Given the description of an element on the screen output the (x, y) to click on. 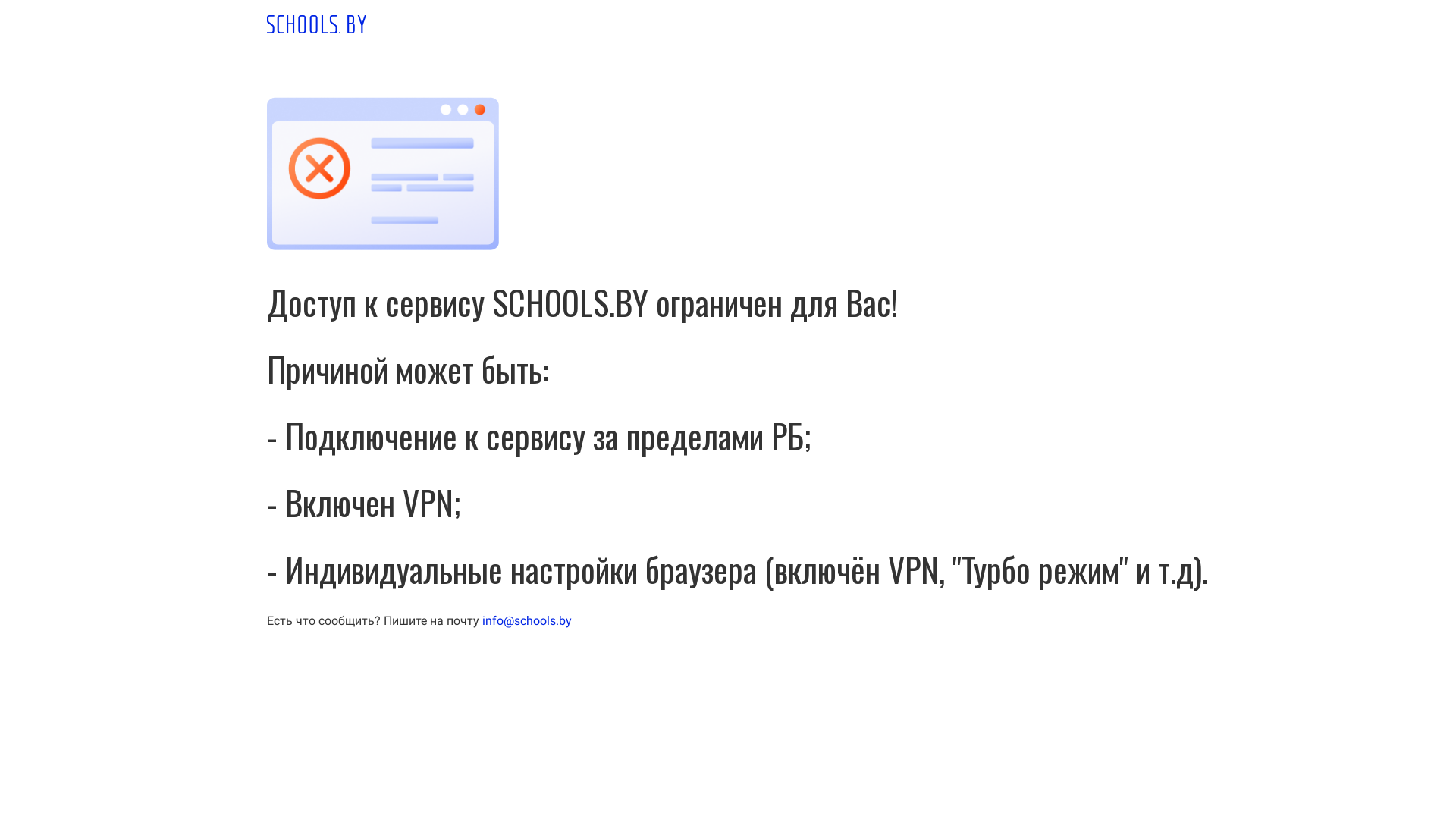
info@schools.by Element type: text (526, 620)
